Given the description of an element on the screen output the (x, y) to click on. 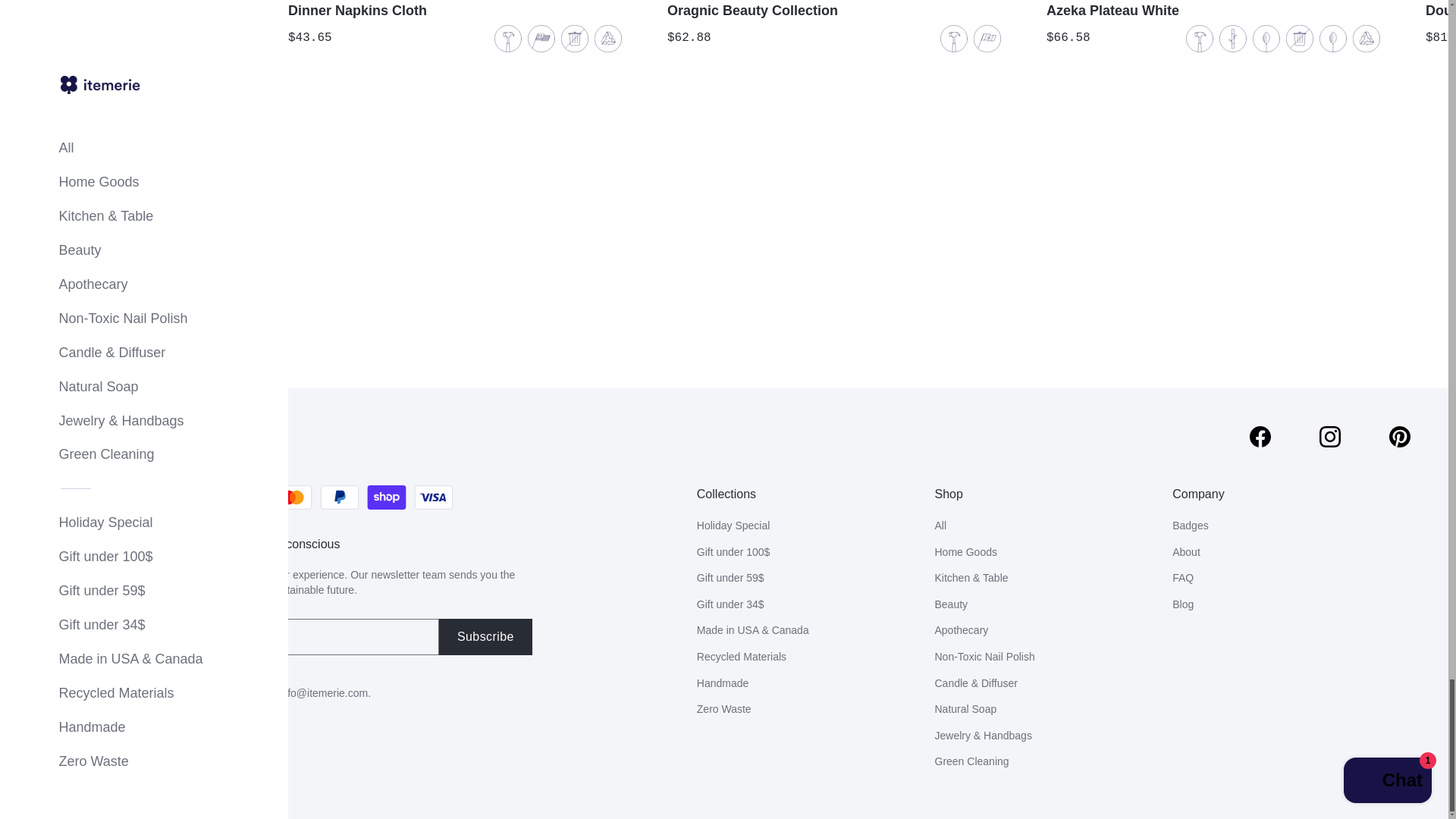
itemerie on Instagram (1329, 436)
itemerie on Facebook (1260, 436)
itemerie on Pinterest, (1399, 436)
